Given the description of an element on the screen output the (x, y) to click on. 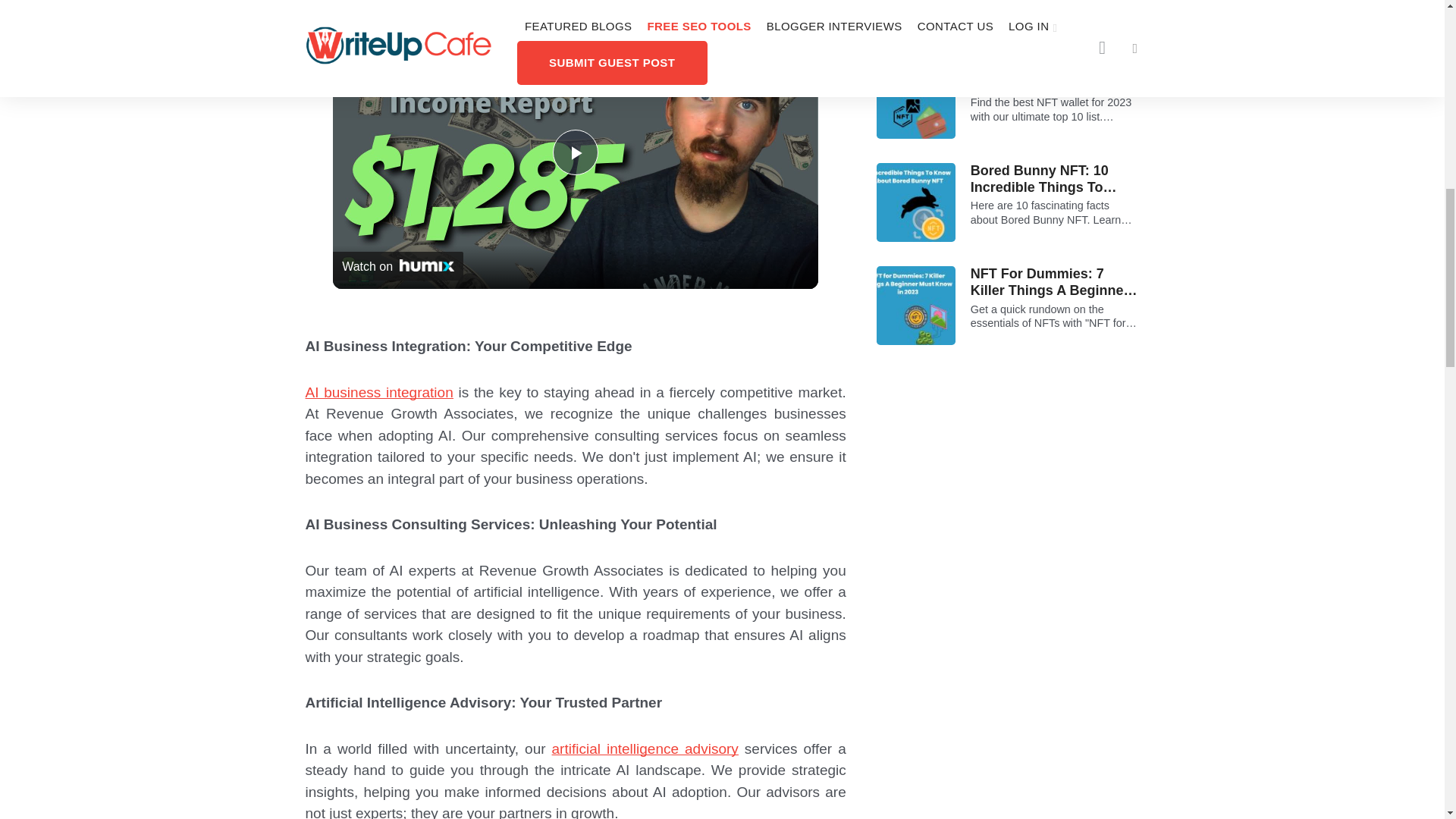
Play Video (575, 152)
AI business integration (378, 392)
artificial intelligence advisory (644, 748)
Watch on (398, 265)
Play Video (575, 152)
